Given the description of an element on the screen output the (x, y) to click on. 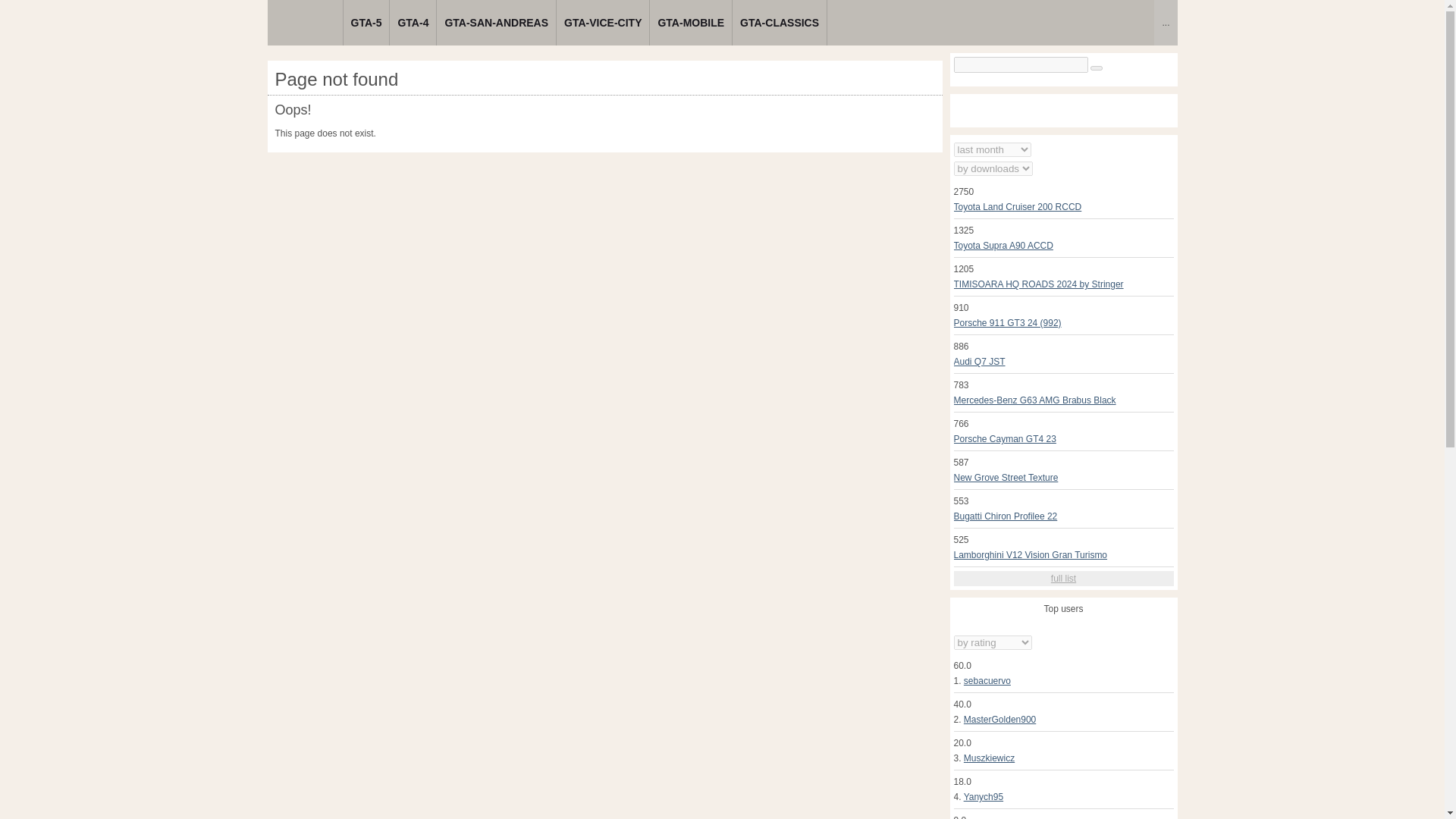
GTA-4 (412, 22)
GTA-5 (365, 22)
